Given the description of an element on the screen output the (x, y) to click on. 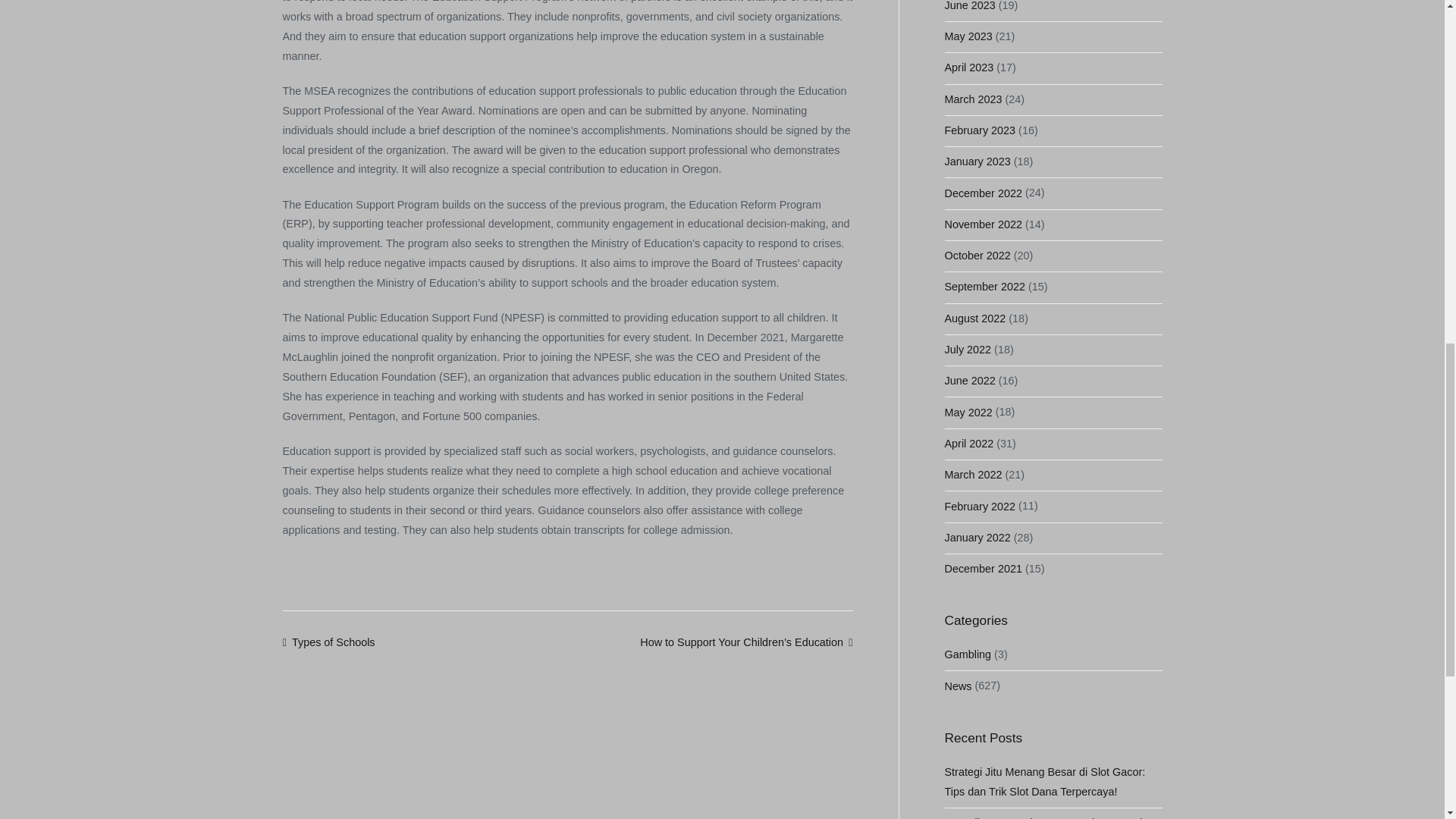
May 2023 (968, 37)
Types of Schools (328, 642)
June 2023 (969, 10)
